Given the description of an element on the screen output the (x, y) to click on. 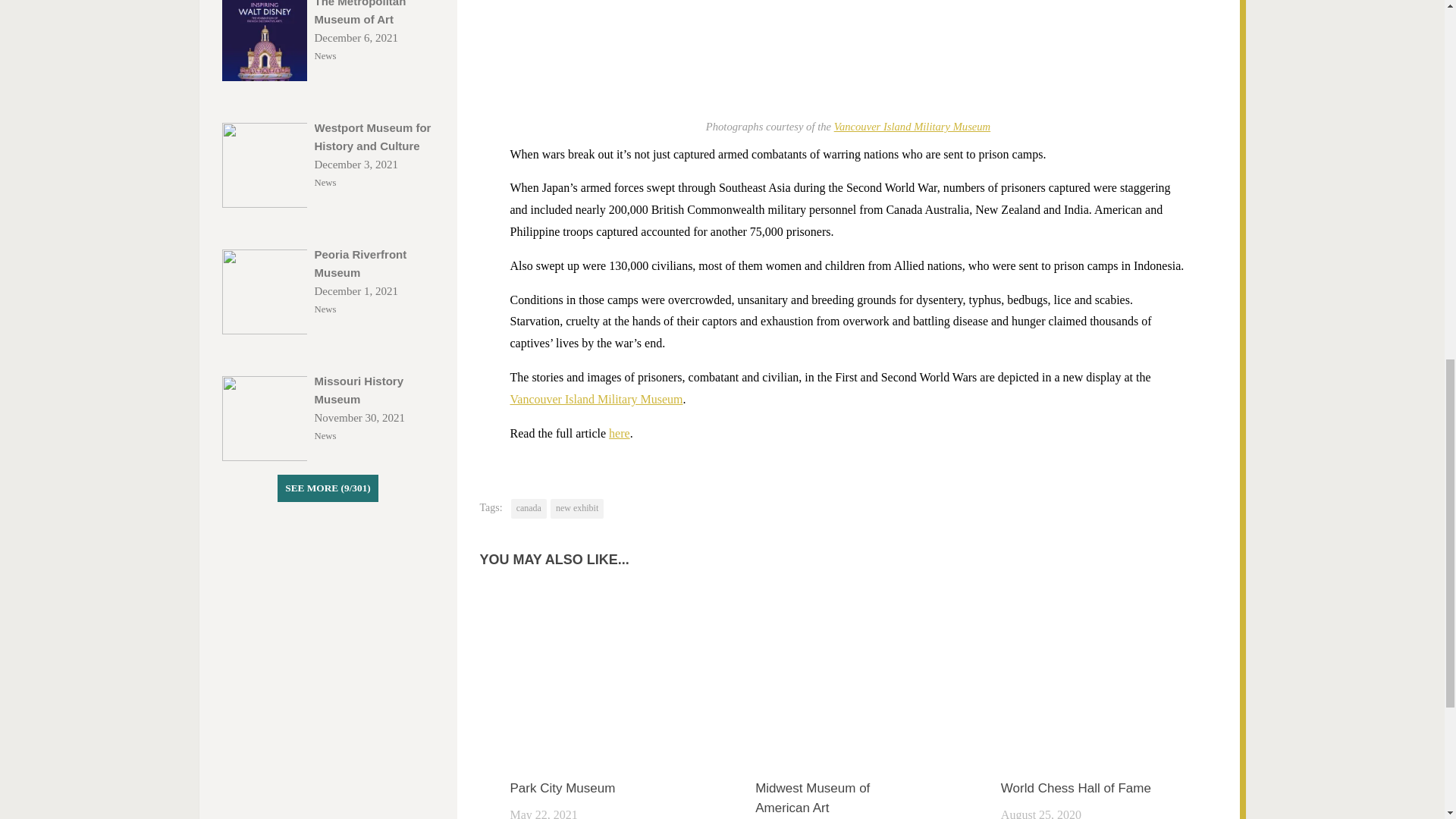
Vancouver Island Military Museum (595, 399)
new exhibit (577, 508)
Permalink to World Chess Hall of Fame (1076, 788)
Park City Museum (561, 788)
Permalink to Midwest Museum of American Art (812, 797)
Permalink to Park City Museum (561, 788)
World Chess Hall of Fame (1076, 788)
Midwest Museum of American Art (812, 797)
here (619, 432)
Vancouver Island Military Museum (912, 126)
